Given the description of an element on the screen output the (x, y) to click on. 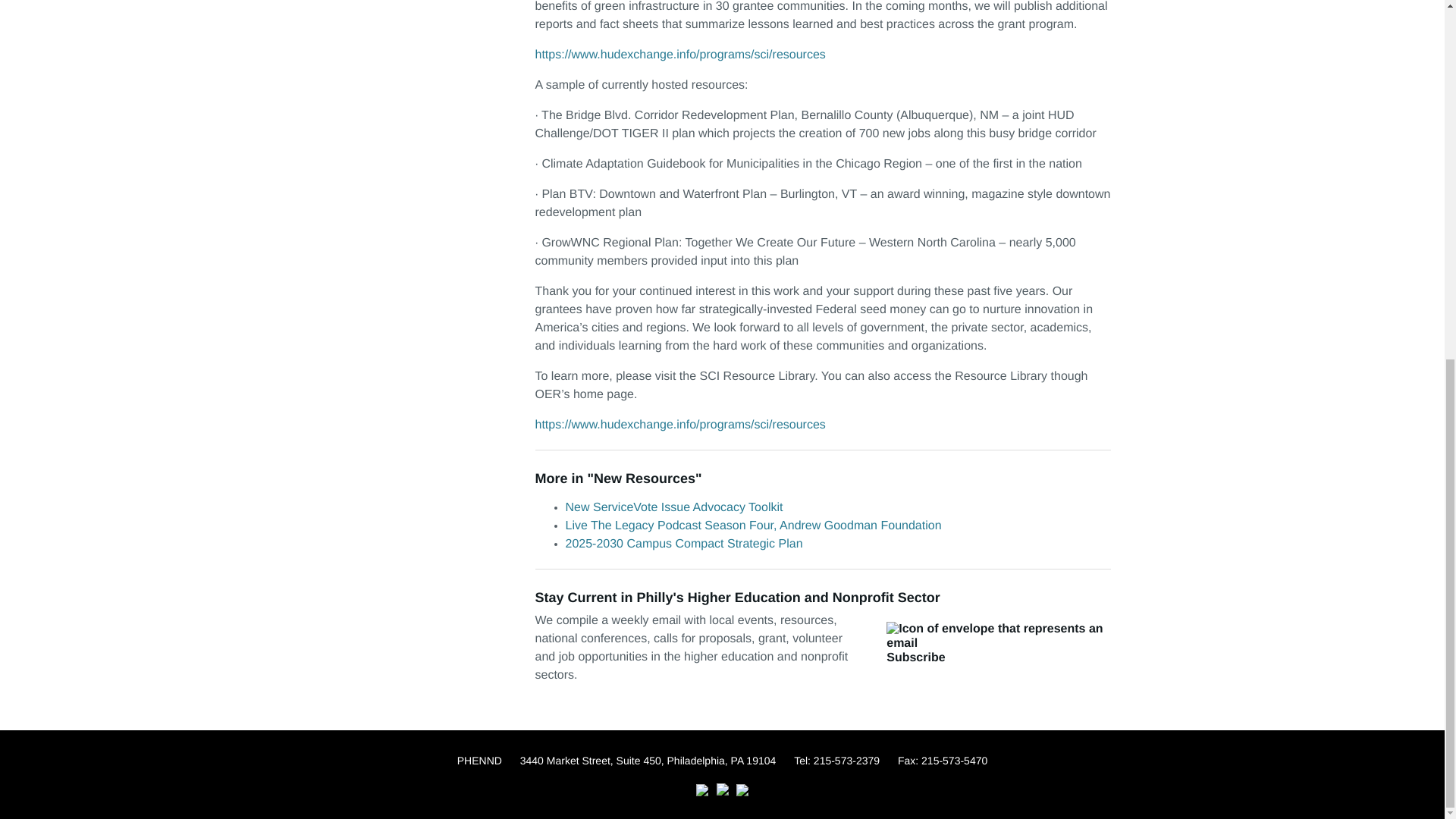
Subscribe (997, 642)
New Resources (644, 478)
2025-2030 Campus Compact Strategic Plan (684, 543)
New ServiceVote Issue Advocacy Toolkit (674, 507)
